Given the description of an element on the screen output the (x, y) to click on. 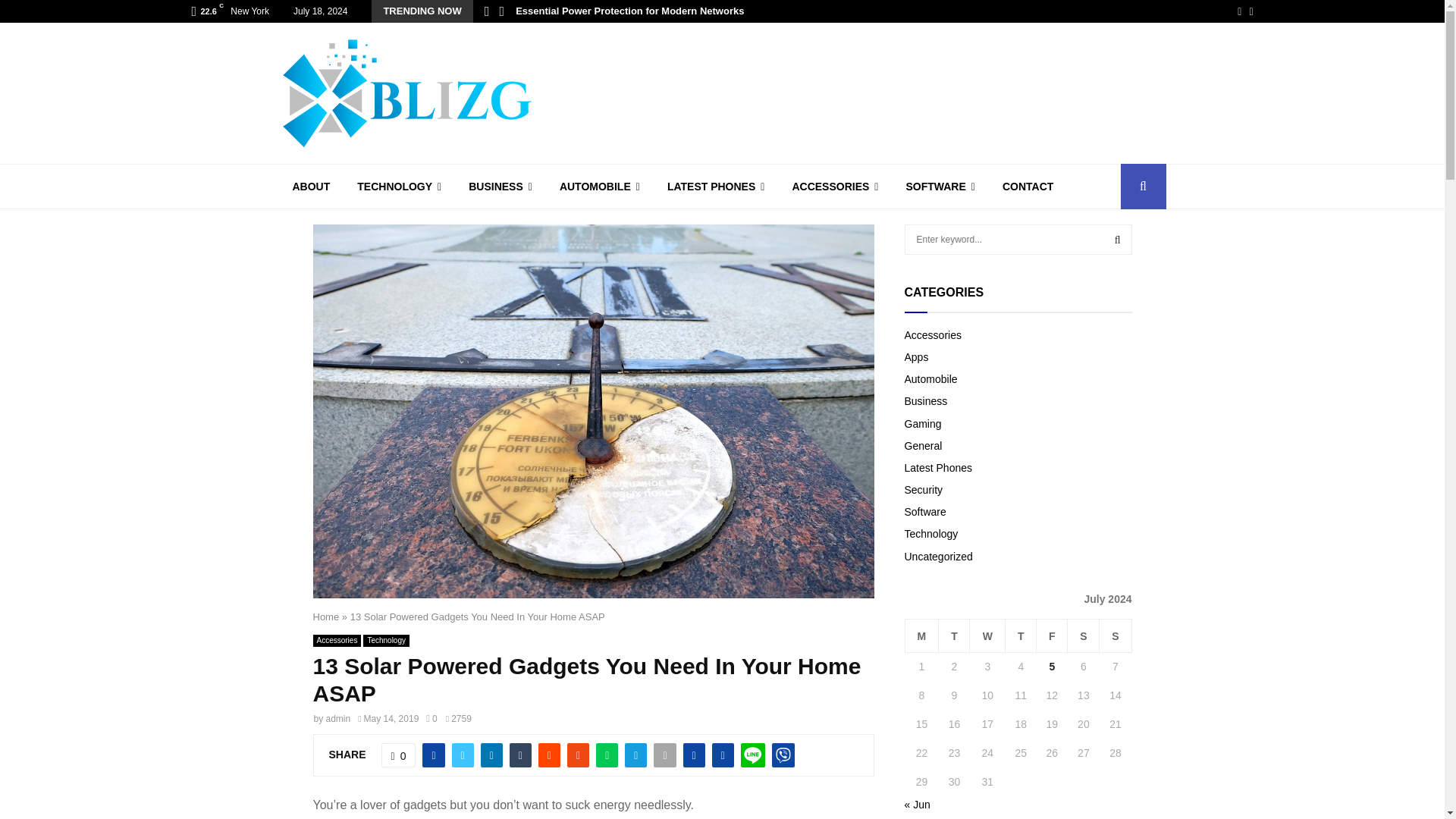
Twitter (1250, 11)
TECHNOLOGY (398, 186)
ABOUT (311, 186)
Facebook (1239, 11)
Facebook (1239, 11)
Twitter (1250, 11)
Essential Power Protection for Modern Networks (629, 10)
